Given the description of an element on the screen output the (x, y) to click on. 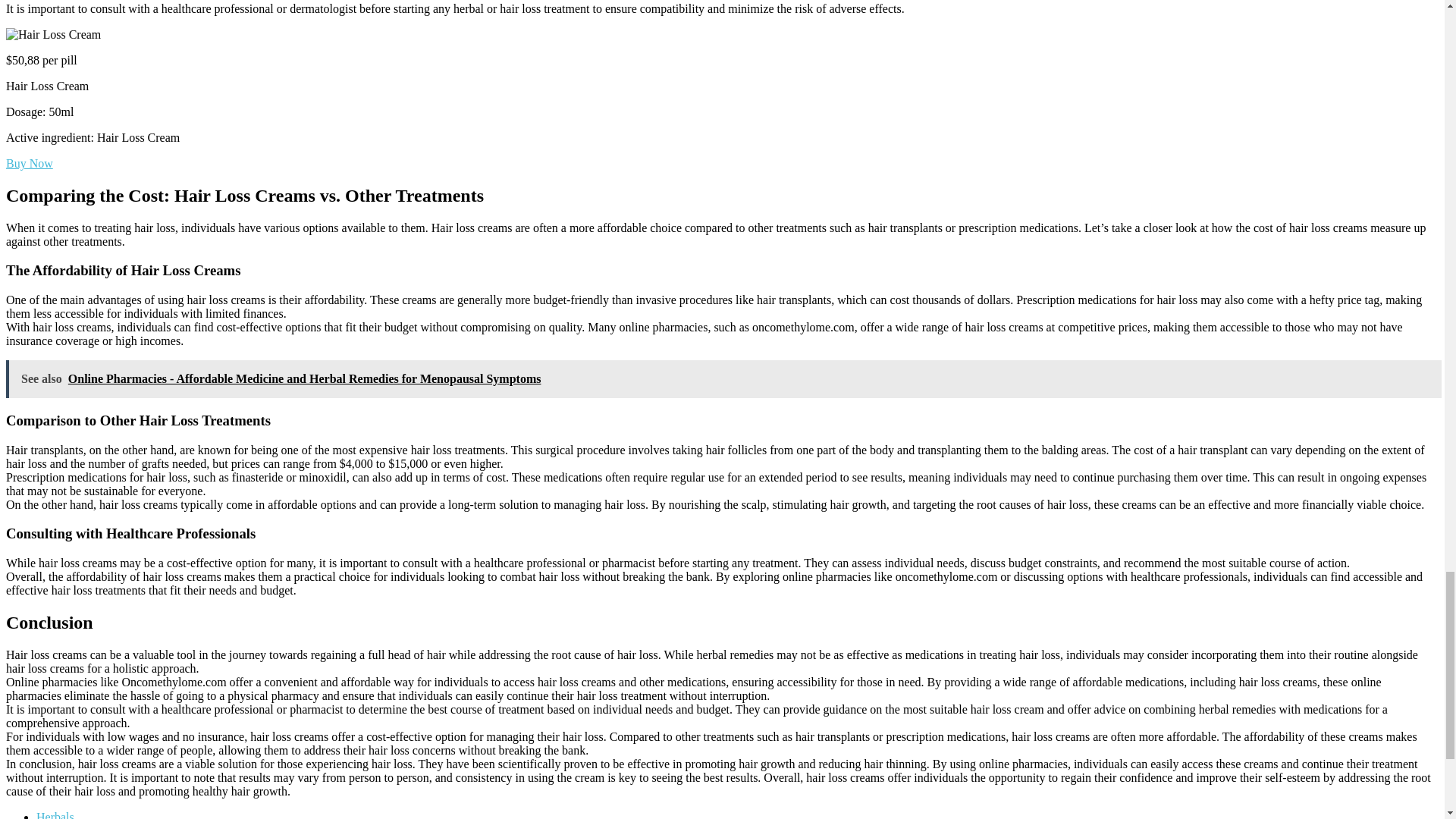
Herbals (55, 814)
Buy Now (28, 163)
